Given the description of an element on the screen output the (x, y) to click on. 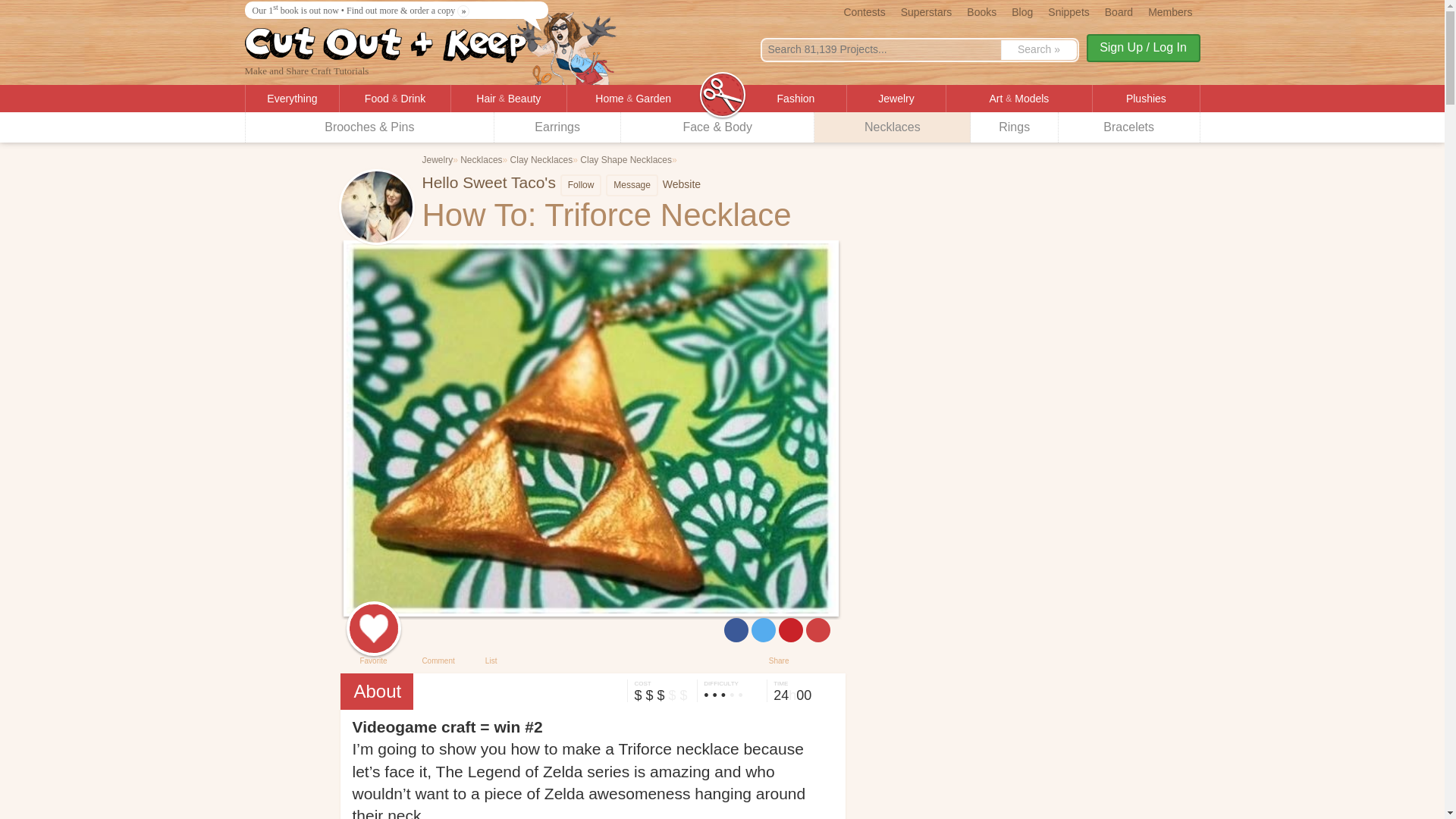
Board (1118, 10)
Everything (292, 98)
Share this project on Facebook (735, 630)
Bracelets (1128, 127)
Add this project to a list (491, 635)
Leave a comment (436, 635)
Share this project in an email (817, 630)
Earrings (558, 127)
Books (981, 10)
Necklaces (892, 127)
